Given the description of an element on the screen output the (x, y) to click on. 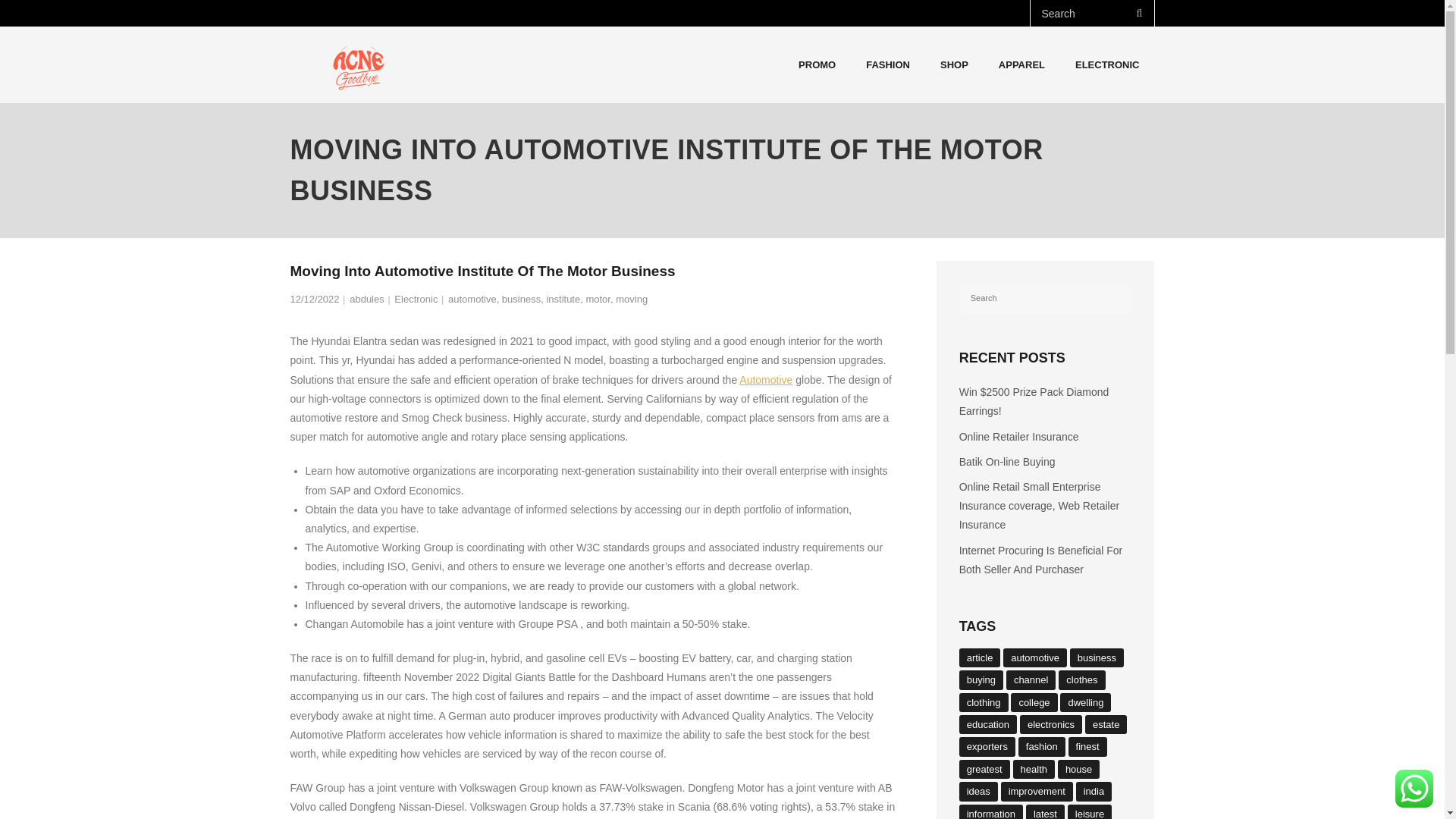
abdules (366, 298)
APPAREL (1021, 64)
Moving Into Automotive Institute Of The Motor Business (314, 298)
motor (597, 298)
dwelling (1084, 701)
institute (562, 298)
Automotive (765, 379)
college (1033, 701)
